Given the description of an element on the screen output the (x, y) to click on. 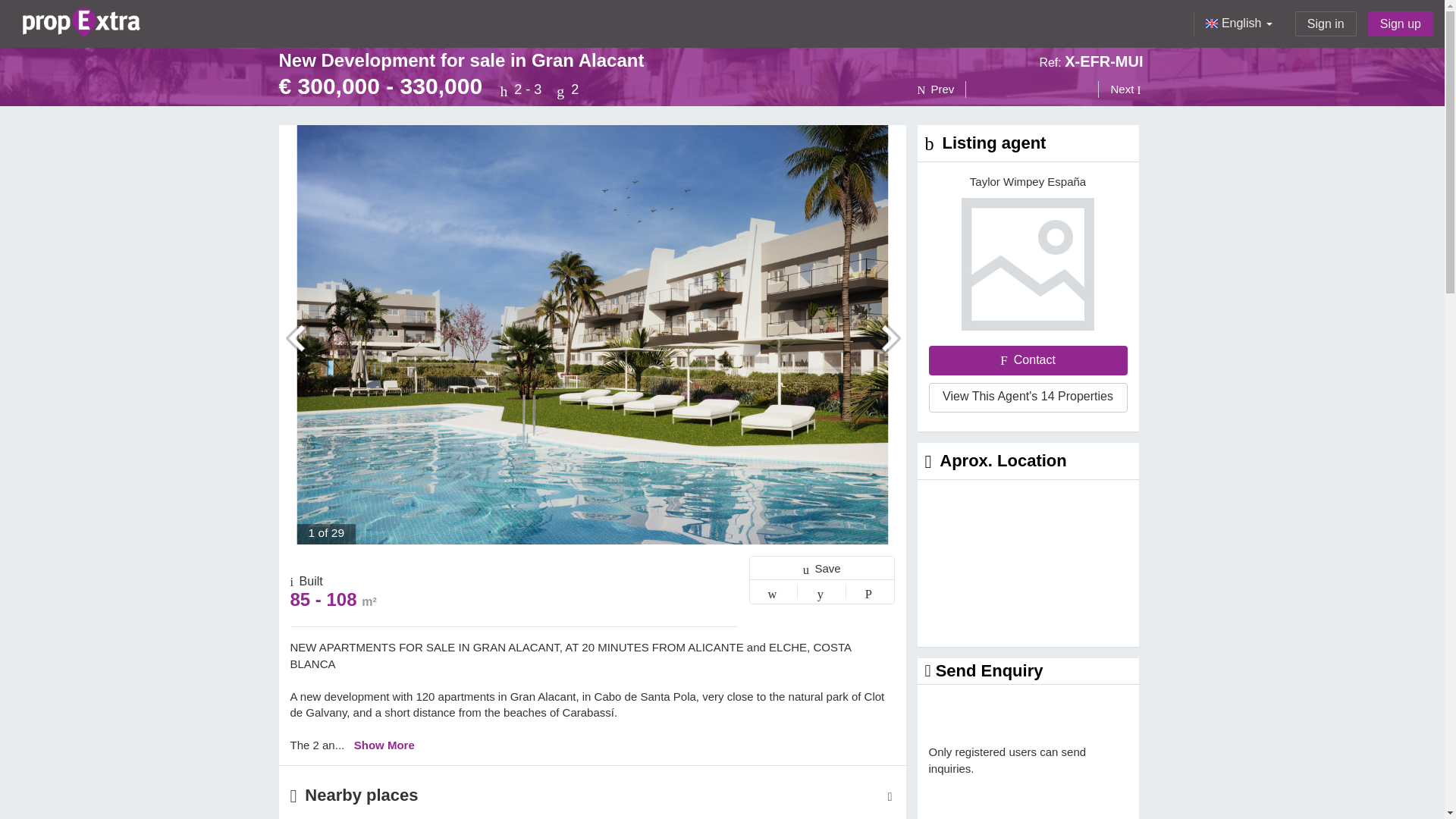
Prev (941, 89)
Beds (521, 89)
Next (1119, 89)
Save (822, 567)
Sign up (1400, 23)
English (1237, 23)
Show More (383, 744)
Baths (567, 89)
Sign in (1325, 23)
